Given the description of an element on the screen output the (x, y) to click on. 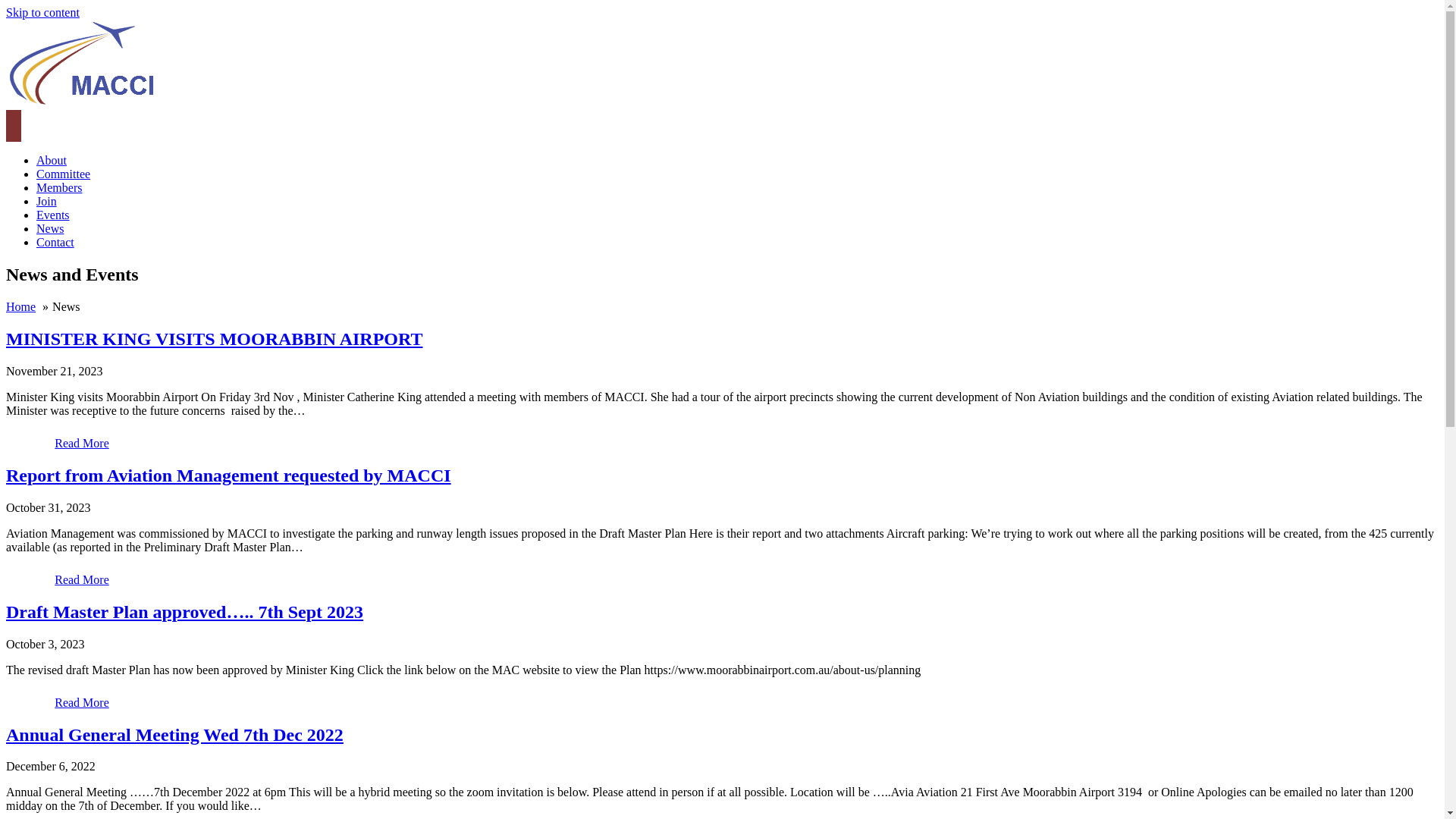
Annual General Meeting Wed 7th Dec 2022 Element type: text (174, 734)
Read More Element type: text (81, 579)
Read More Element type: text (81, 702)
Home Element type: text (20, 306)
Join Element type: text (46, 200)
Skip to content Element type: text (42, 12)
Events Element type: text (52, 214)
Report from Aviation Management requested by MACCI Element type: text (228, 475)
Members Element type: text (58, 187)
MINISTER KING VISITS MOORABBIN AIRPORT Element type: text (214, 338)
Contact Element type: text (55, 241)
About Element type: text (51, 159)
Read More Element type: text (81, 443)
News Element type: text (49, 228)
New Logo Macci Element type: hover (81, 62)
Committee Element type: text (63, 173)
